Given the description of an element on the screen output the (x, y) to click on. 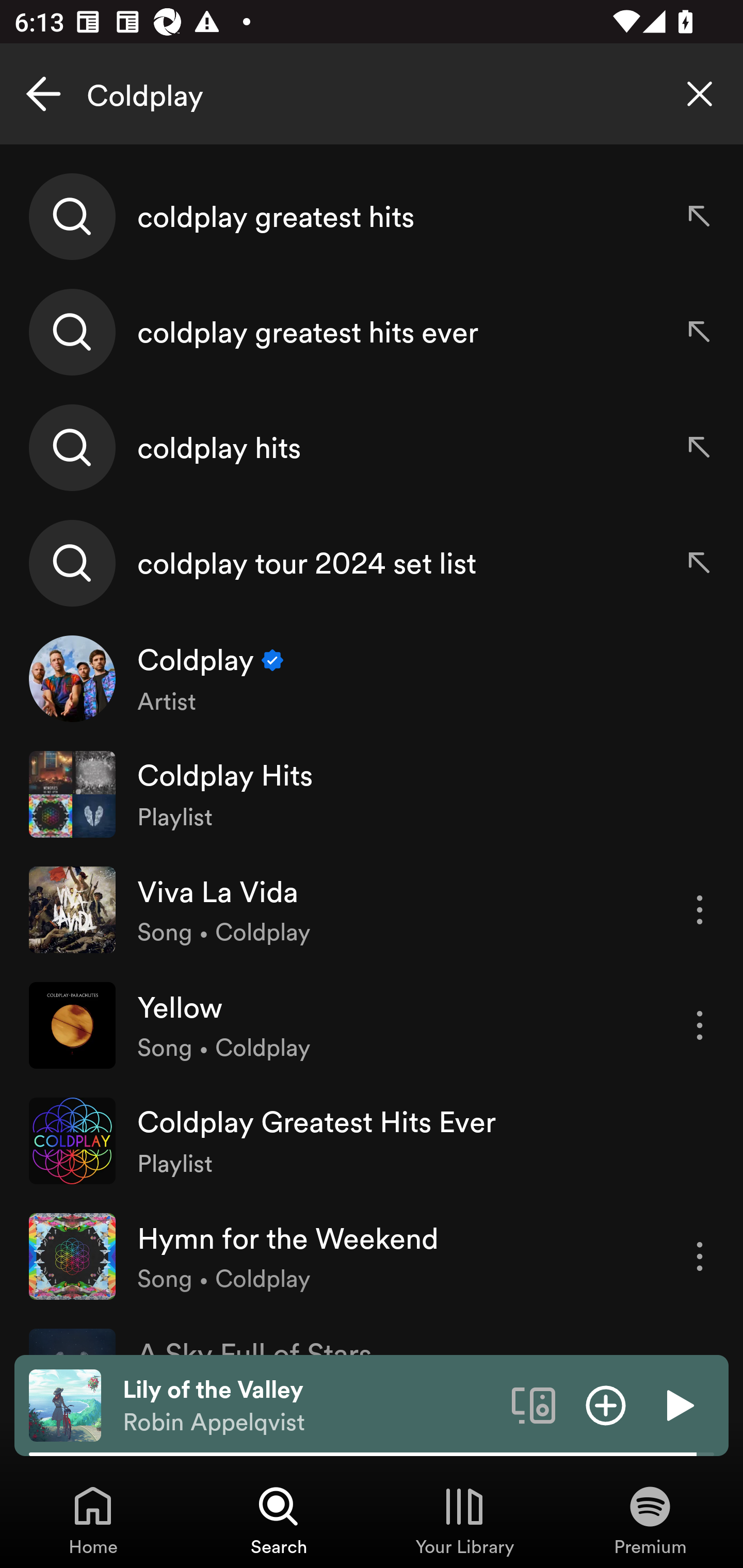
Coldplay (371, 93)
Cancel (43, 93)
Clear search query (699, 93)
coldplay greatest hits (371, 216)
coldplay greatest hits ever (371, 332)
coldplay hits (371, 447)
coldplay tour 2024 set list (371, 562)
Coldplay Verified Artist (371, 678)
Coldplay Hits Playlist (371, 793)
More options for song Viva La Vida (699, 910)
More options for song Yellow (699, 1025)
Coldplay Greatest Hits Ever Playlist (371, 1140)
More options for song Hymn for the Weekend (699, 1256)
Lily of the Valley Robin Appelqvist (309, 1405)
The cover art of the currently playing track (64, 1404)
Connect to a device. Opens the devices menu (533, 1404)
Add item (605, 1404)
Play (677, 1404)
Home, Tab 1 of 4 Home Home (92, 1519)
Search, Tab 2 of 4 Search Search (278, 1519)
Your Library, Tab 3 of 4 Your Library Your Library (464, 1519)
Premium, Tab 4 of 4 Premium Premium (650, 1519)
